Given the description of an element on the screen output the (x, y) to click on. 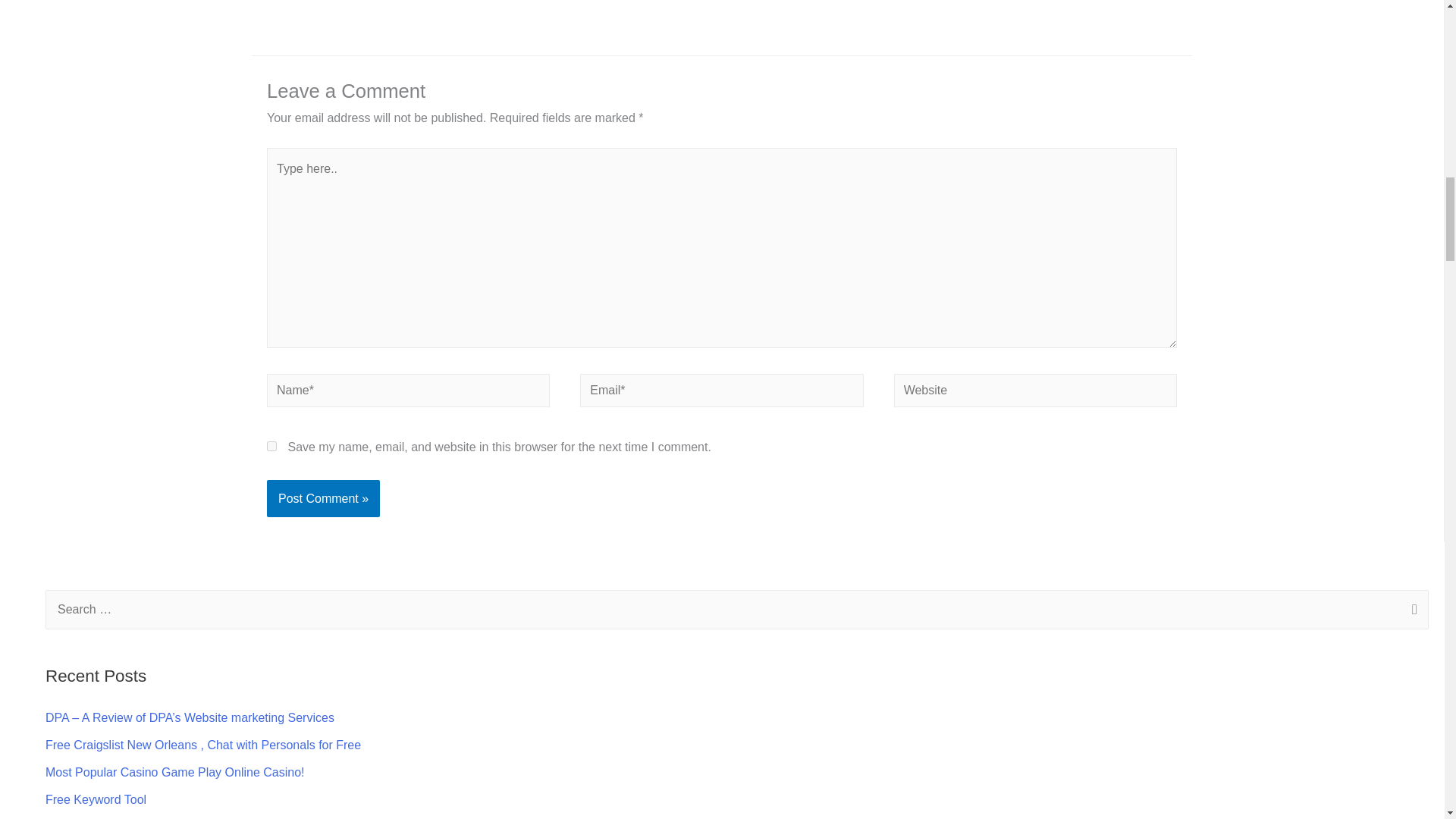
yes (271, 446)
